Given the description of an element on the screen output the (x, y) to click on. 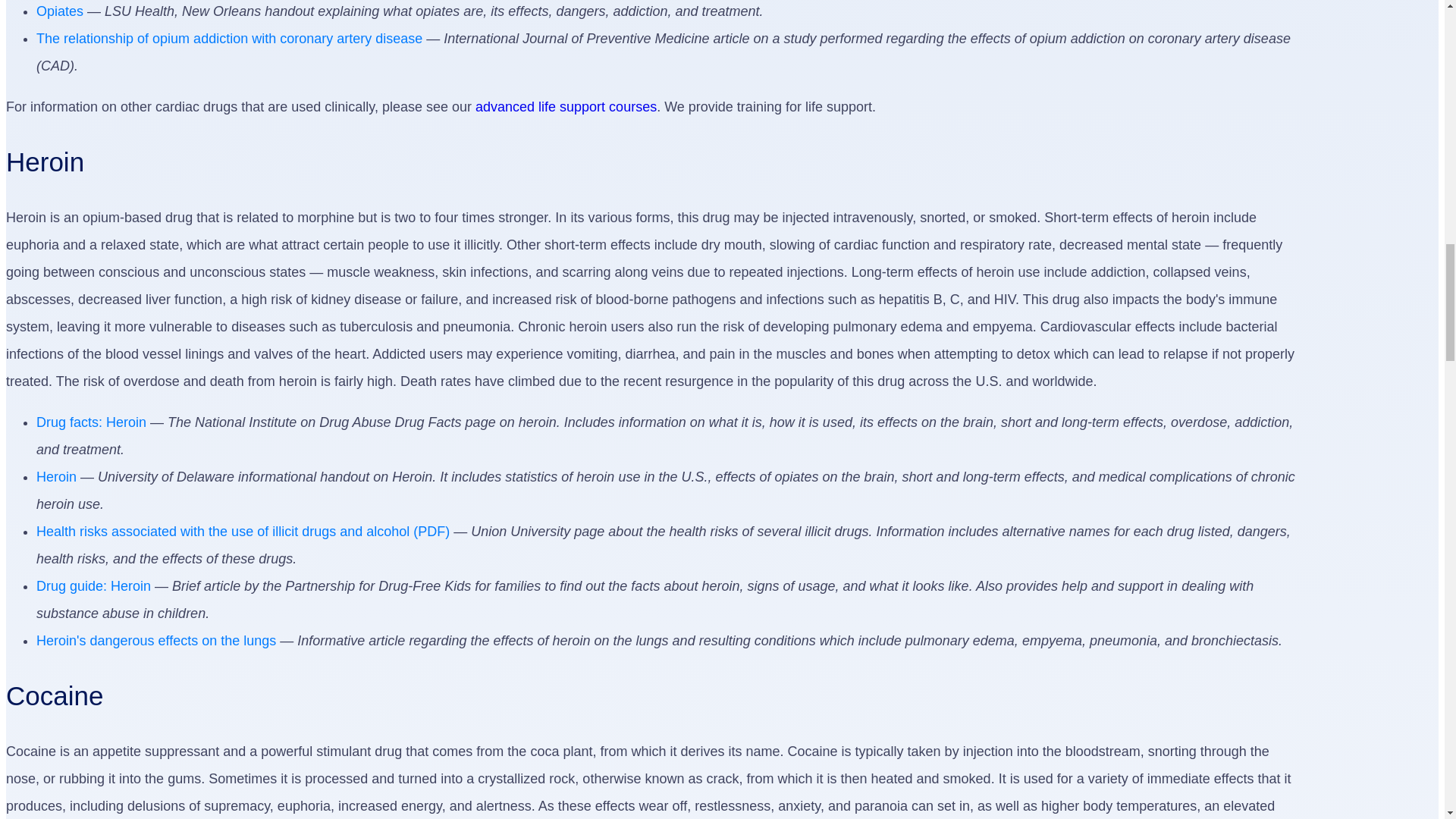
Drug guide: Heroin (93, 585)
Heroin (56, 476)
advanced life support courses (566, 106)
Heroin's dangerous effects on the lungs (156, 640)
Drug facts: Heroin (91, 421)
Opiates (59, 11)
